Given the description of an element on the screen output the (x, y) to click on. 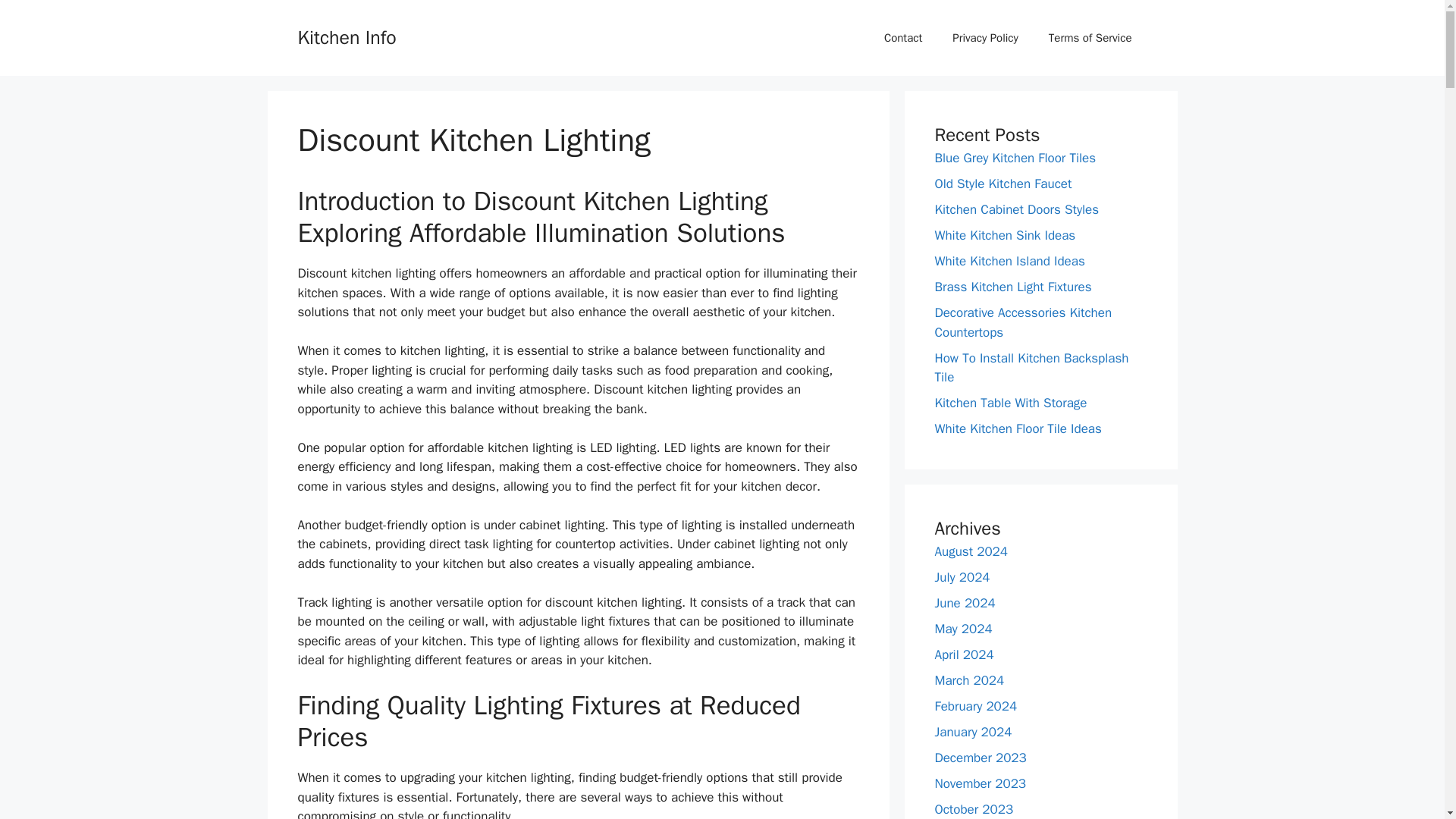
January 2024 (972, 731)
White Kitchen Floor Tile Ideas (1017, 428)
October 2023 (973, 808)
February 2024 (975, 705)
White Kitchen Island Ideas (1009, 261)
August 2024 (970, 550)
Old Style Kitchen Faucet (1002, 183)
How To Install Kitchen Backsplash Tile (1031, 367)
Terms of Service (1090, 37)
November 2023 (980, 782)
